Given the description of an element on the screen output the (x, y) to click on. 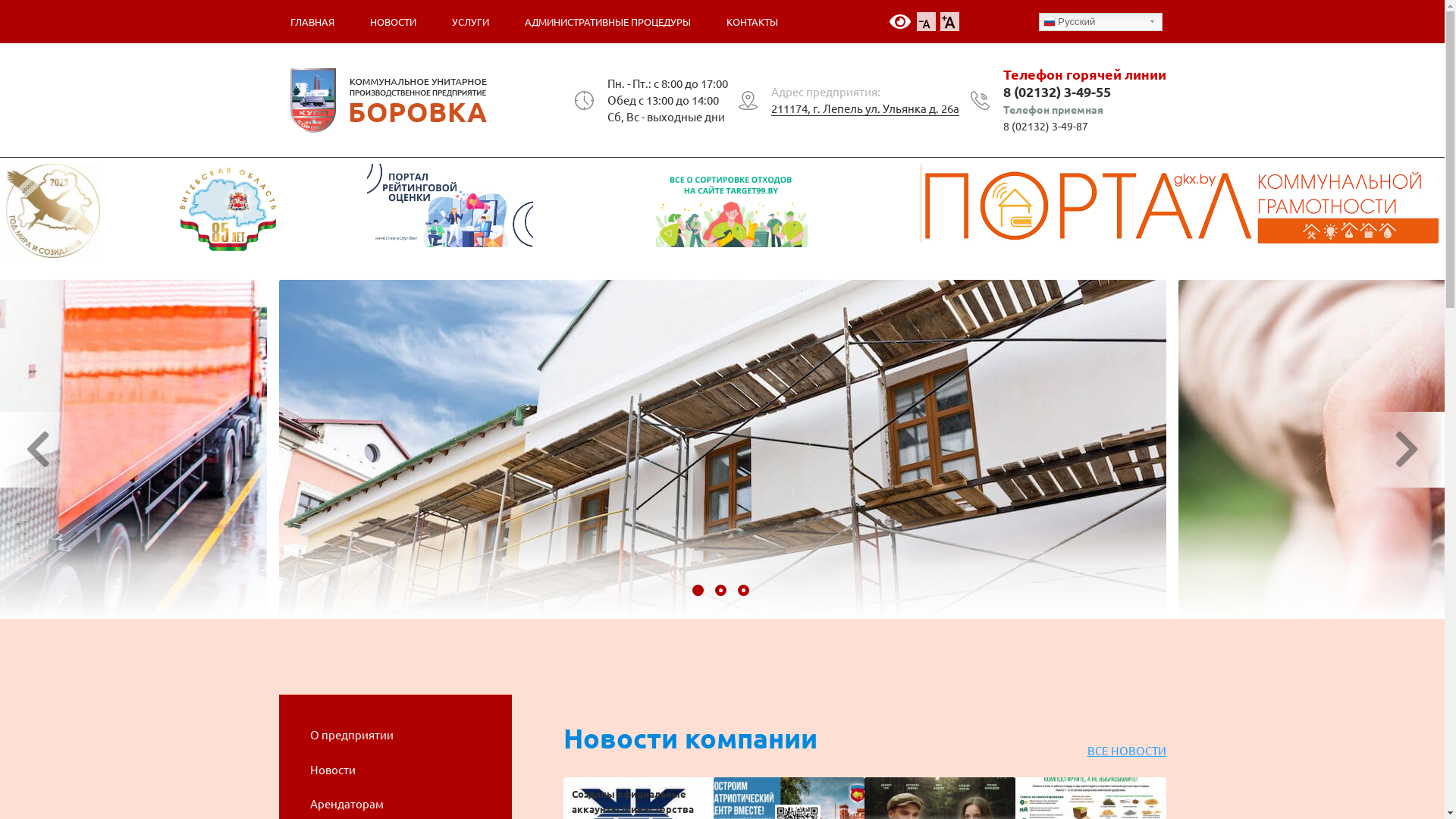
A Element type: text (949, 21)
1 Element type: text (698, 591)
8 (02132) 3-49-55 Element type: text (1056, 91)
A Element type: text (925, 21)
3 Element type: text (744, 591)
Next Element type: text (1406, 449)
8 (02132) 3-49-87 Element type: text (1044, 125)
2 Element type: text (721, 591)
Previous Element type: text (37, 449)
